Given the description of an element on the screen output the (x, y) to click on. 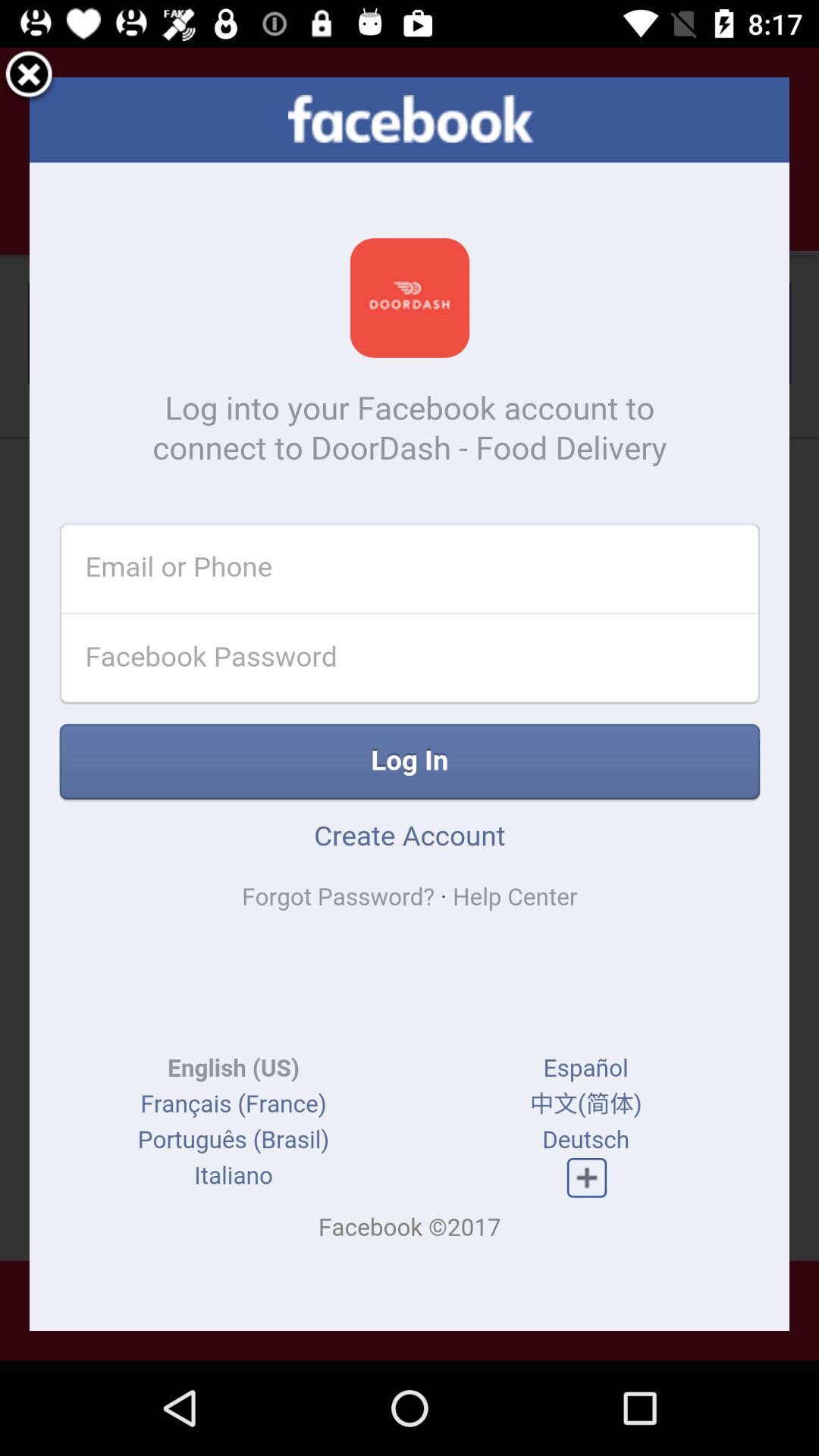
close out (29, 76)
